Given the description of an element on the screen output the (x, y) to click on. 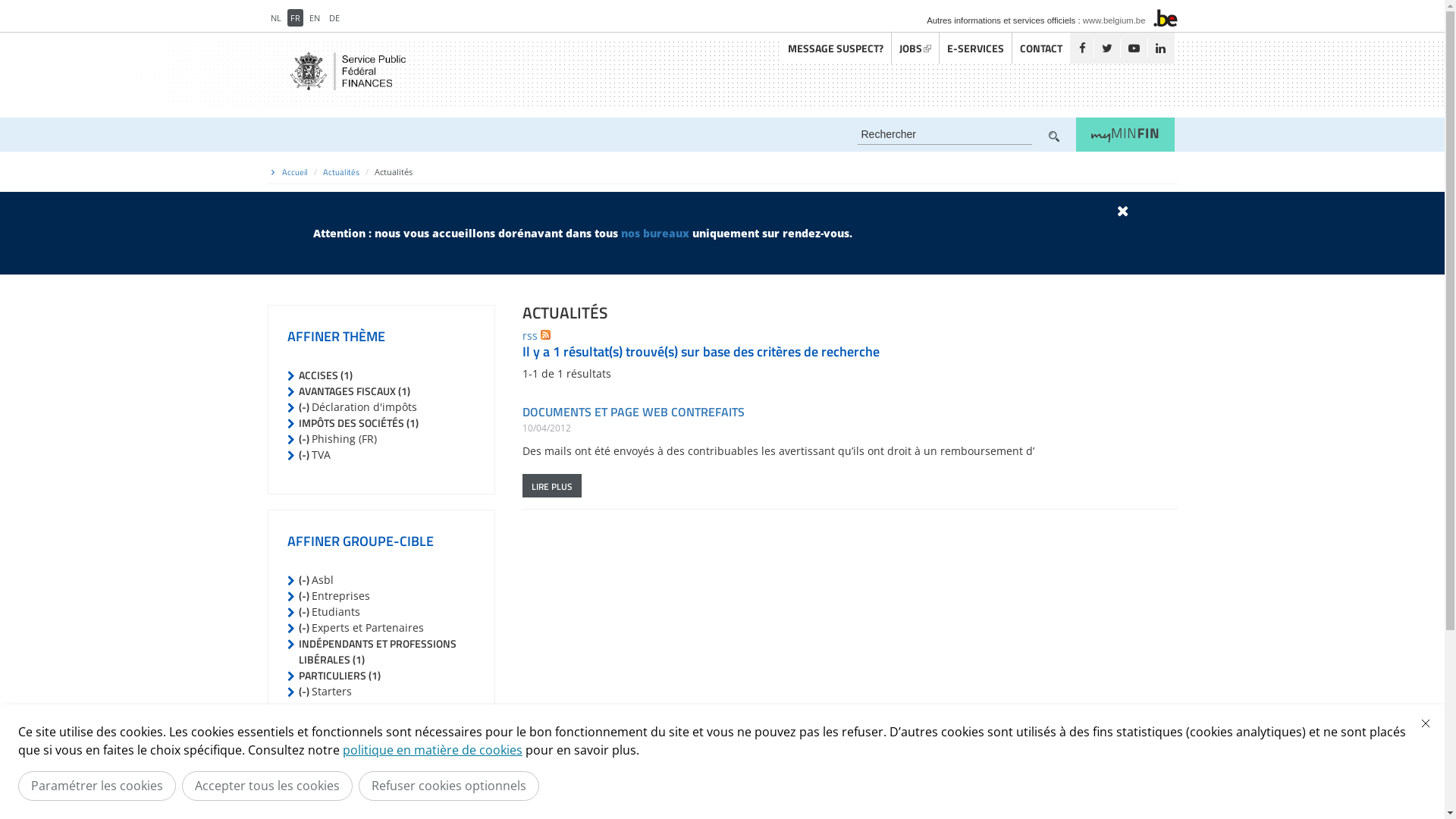
E-SERVICES Element type: text (974, 47)
Fermer Element type: hover (1425, 723)
(-)
REMOVE EXPERTS ET PARTENAIRES FILTER Element type: text (304, 626)
JOBS
(LINK IS EXTERNAL) Element type: text (914, 47)
www.belgium.be Element type: text (1113, 20)
Twitter: Element type: text (1106, 47)
LIRE PLUS Element type: text (550, 485)
PARTICULIERS (1)
APPLY PARTICULIERS FILTER Element type: text (339, 675)
EN Element type: text (314, 17)
(-)
REMOVE ENTREPRISES FILTER Element type: text (304, 594)
FR Element type: text (294, 17)
rss Element type: text (535, 335)
NL Element type: text (274, 17)
ACCISES (1)
APPLY ACCISES FILTER Element type: text (325, 374)
nos bureaux Element type: text (654, 232)
Zoek Element type: text (1052, 135)
CONTACT Element type: text (1040, 47)
DOCUMENTS ET PAGE WEB CONTREFAITS Element type: text (632, 411)
(-)
REMOVE TVA FILTER Element type: text (304, 454)
Facebook Element type: text (1081, 47)
DE Element type: text (334, 17)
YouTube Element type: text (1132, 47)
Aller au contenu principal Element type: text (66, 0)
Accueil Element type: text (294, 172)
Linkedin Element type: text (1159, 47)
Accepter tous les cookies Element type: text (267, 785)
(-)
REMOVE ASBL FILTER Element type: text (304, 579)
myMINFIN Element type: text (1124, 134)
MESSAGE SUSPECT? Element type: text (834, 47)
(-)
REMOVE STARTERS FILTER Element type: text (304, 690)
(-)
REMOVE ETUDIANTS FILTER Element type: text (304, 611)
(-)
REMOVE PHISHING (FR) FILTER Element type: text (304, 438)
Refuser cookies optionnels Element type: text (448, 785)
AVANTAGES FISCAUX (1)
APPLY AVANTAGES FISCAUX FILTER Element type: text (354, 390)
